Given the description of an element on the screen output the (x, y) to click on. 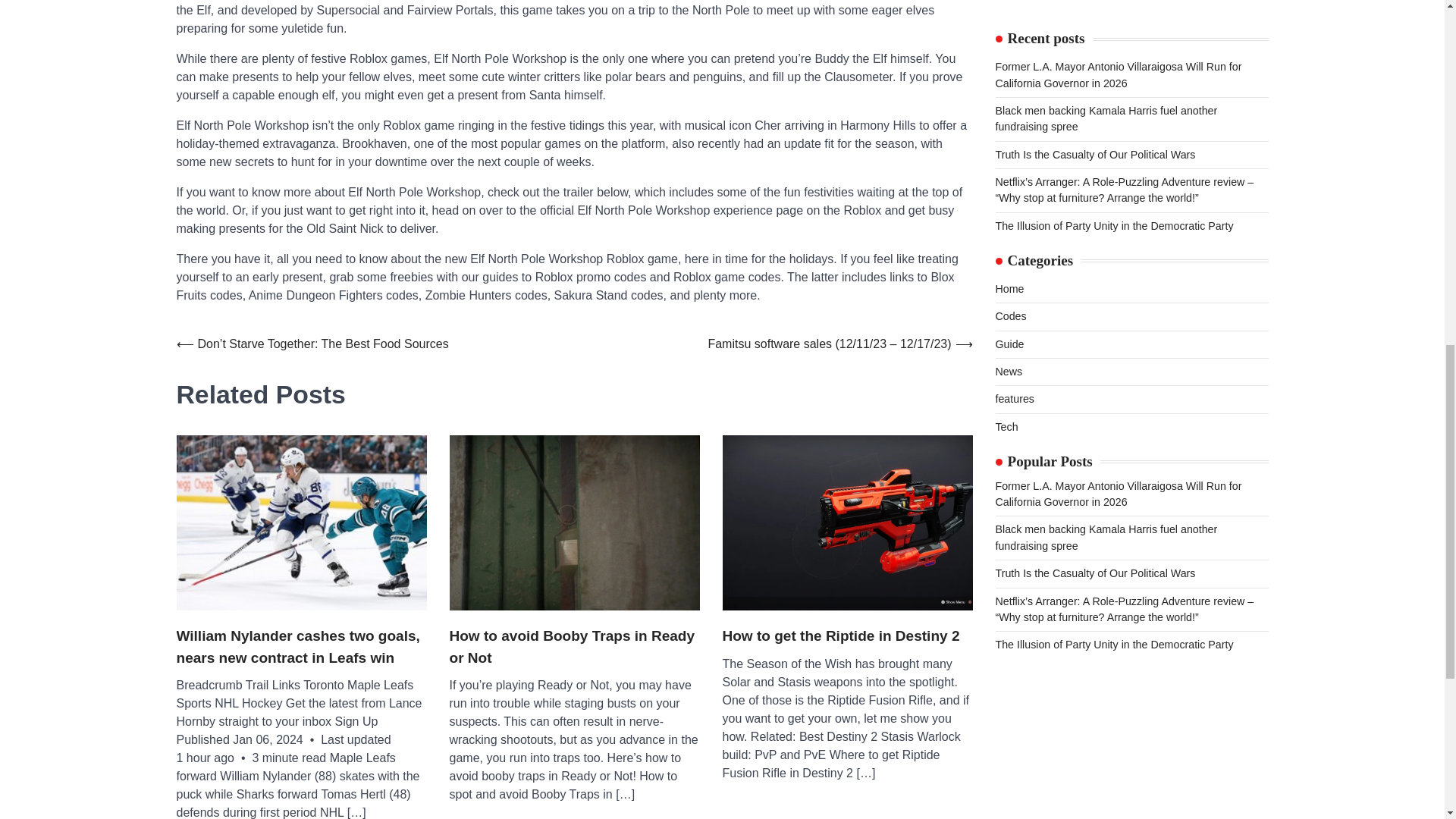
How to avoid Booby Traps in Ready or Not (573, 647)
How to get the Riptide in Destiny 2 (840, 636)
